Given the description of an element on the screen output the (x, y) to click on. 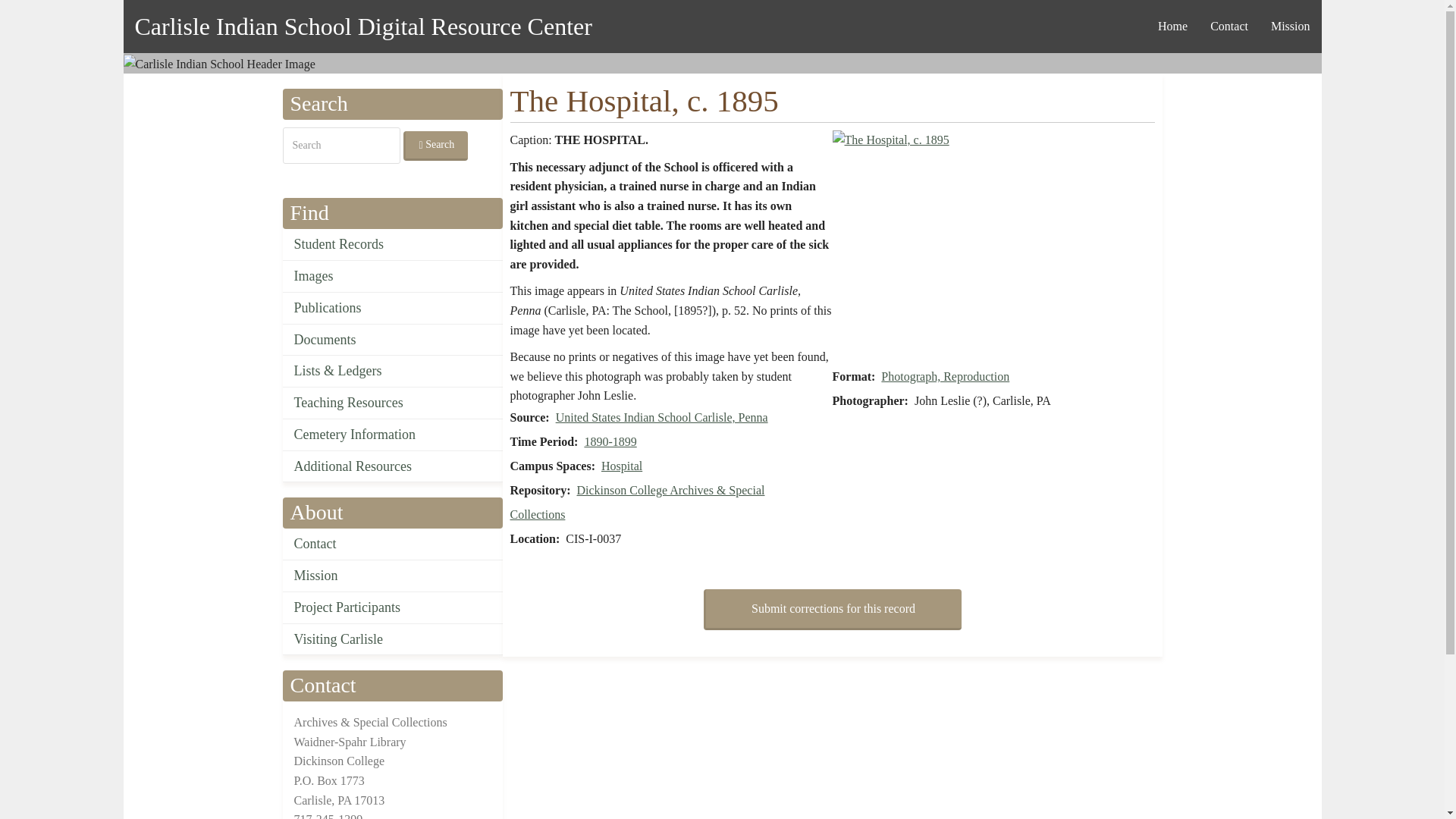
Teaching Resources (392, 403)
Contact (392, 544)
Cemetery Information (392, 435)
Images (392, 276)
Home (1172, 25)
Home (362, 26)
Additional Resources (392, 467)
Contact (1228, 25)
Carlisle Indian School Digital Resource Center (362, 26)
